Given the description of an element on the screen output the (x, y) to click on. 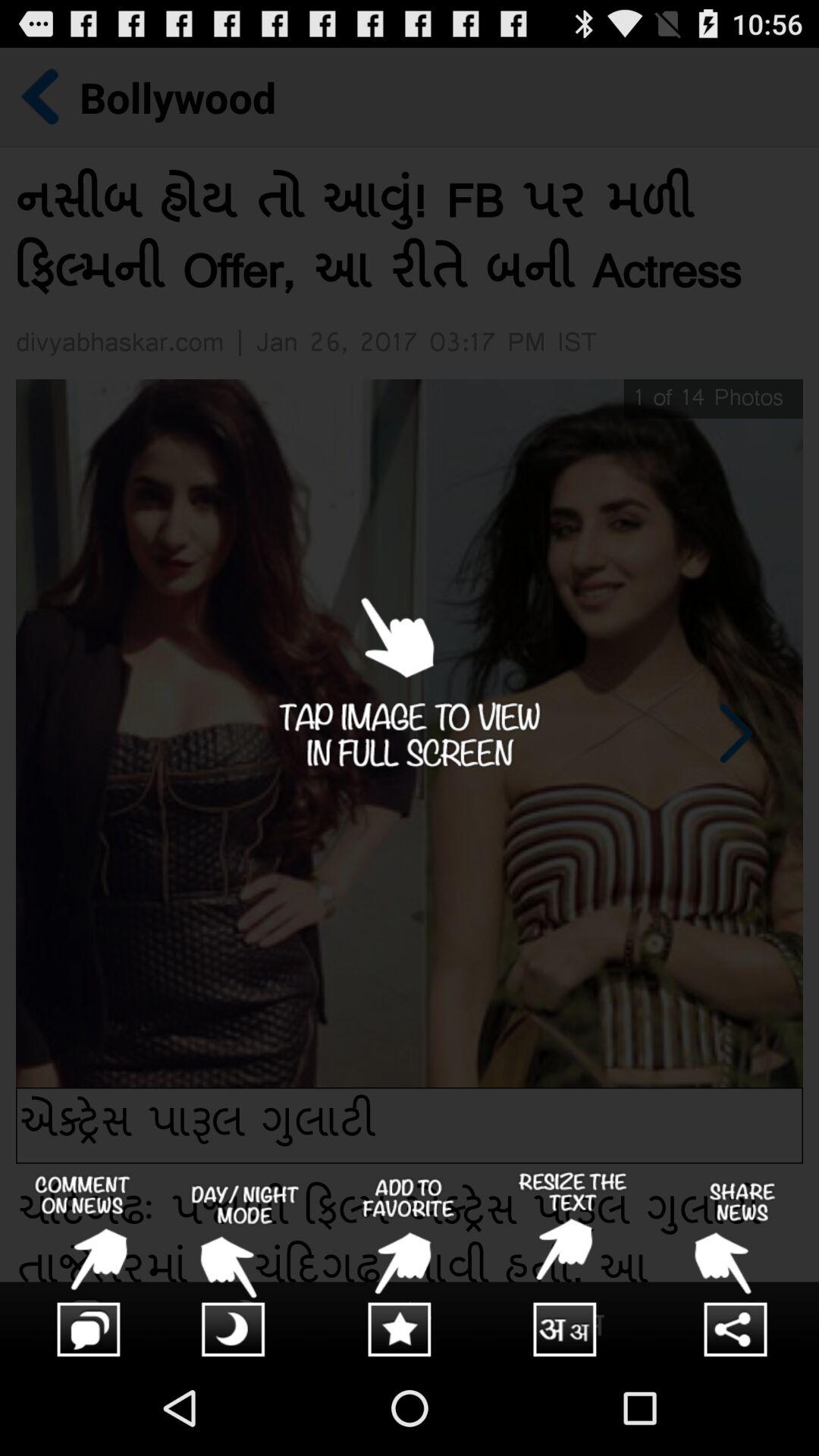
setting page (737, 1265)
